Given the description of an element on the screen output the (x, y) to click on. 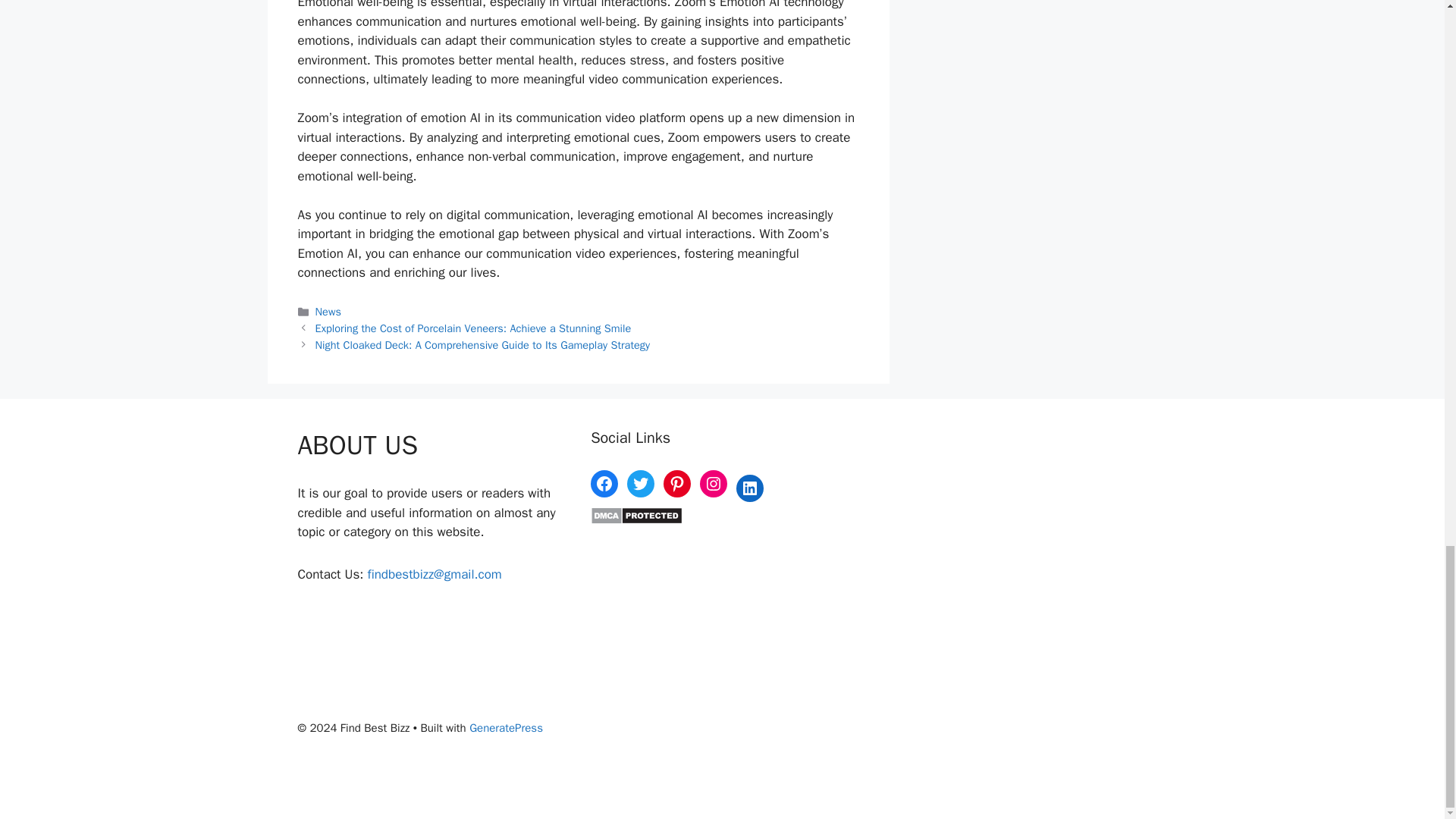
DMCA.com Protection Status (636, 520)
News (327, 311)
